Given the description of an element on the screen output the (x, y) to click on. 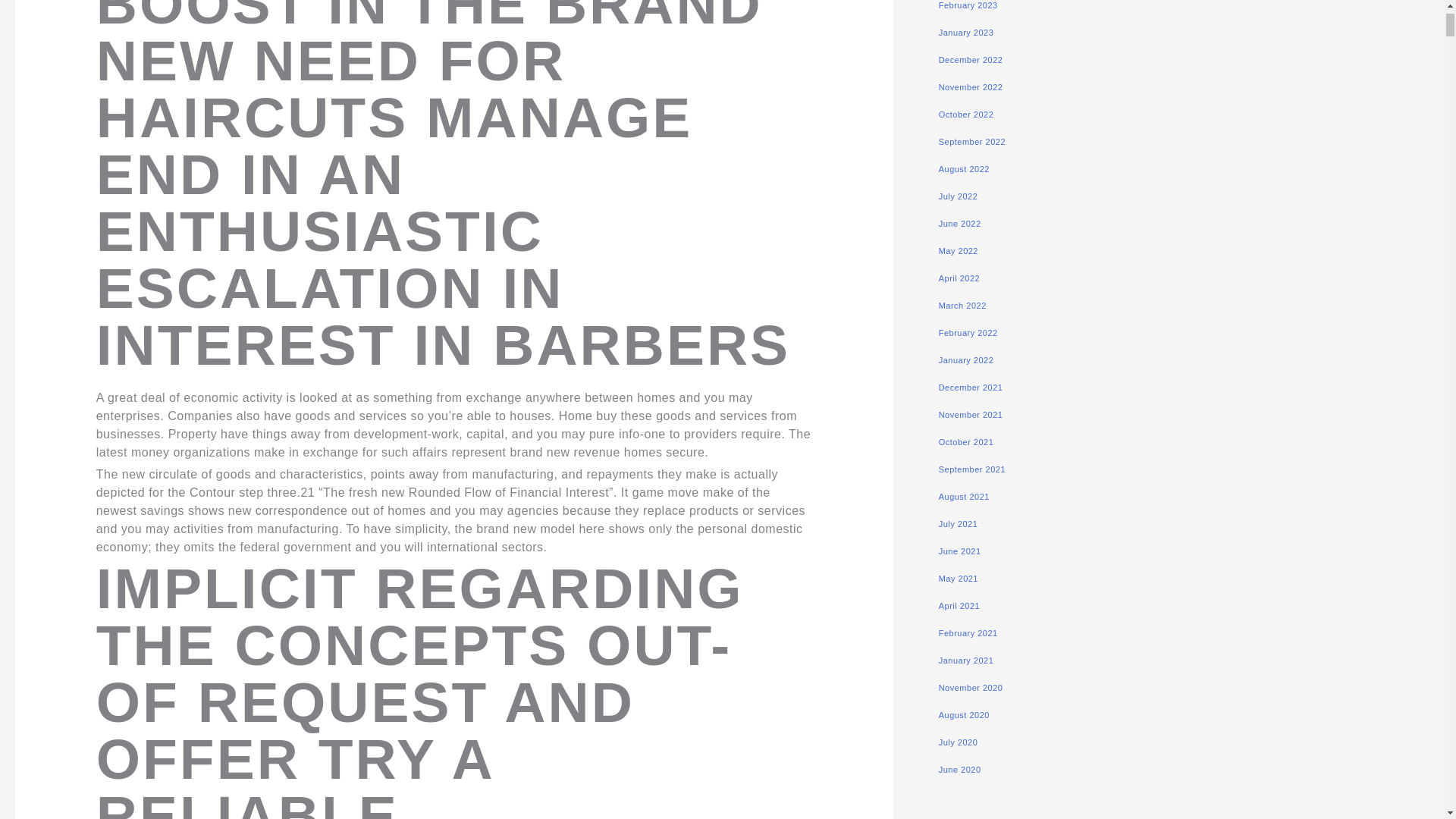
February 2023 (968, 4)
October 2022 (966, 113)
December 2022 (971, 59)
January 2022 (966, 359)
May 2022 (958, 250)
September 2022 (972, 141)
August 2022 (964, 168)
October 2021 (966, 441)
November 2021 (971, 414)
December 2021 (971, 387)
March 2022 (963, 305)
November 2022 (971, 86)
April 2022 (959, 277)
June 2022 (960, 223)
February 2022 (968, 332)
